Given the description of an element on the screen output the (x, y) to click on. 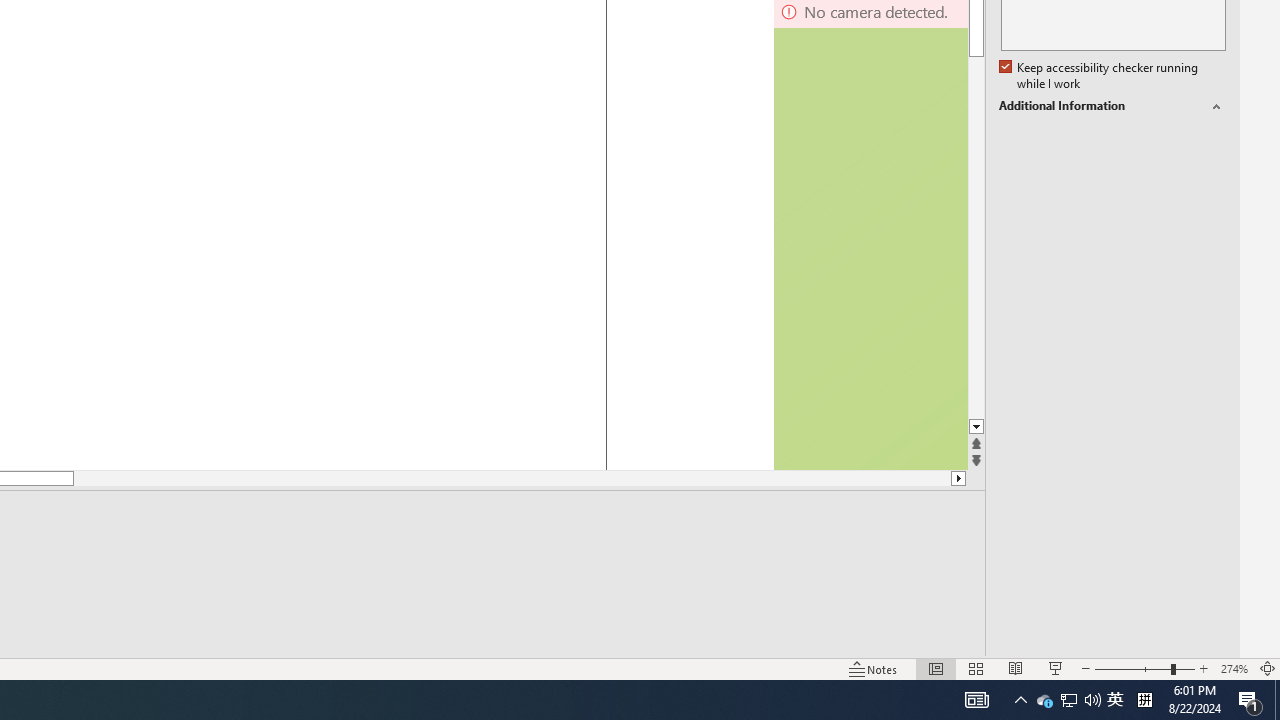
Keep accessibility checker running while I work (1099, 76)
Zoom 274% (1234, 668)
Additional Information (1112, 106)
